Given the description of an element on the screen output the (x, y) to click on. 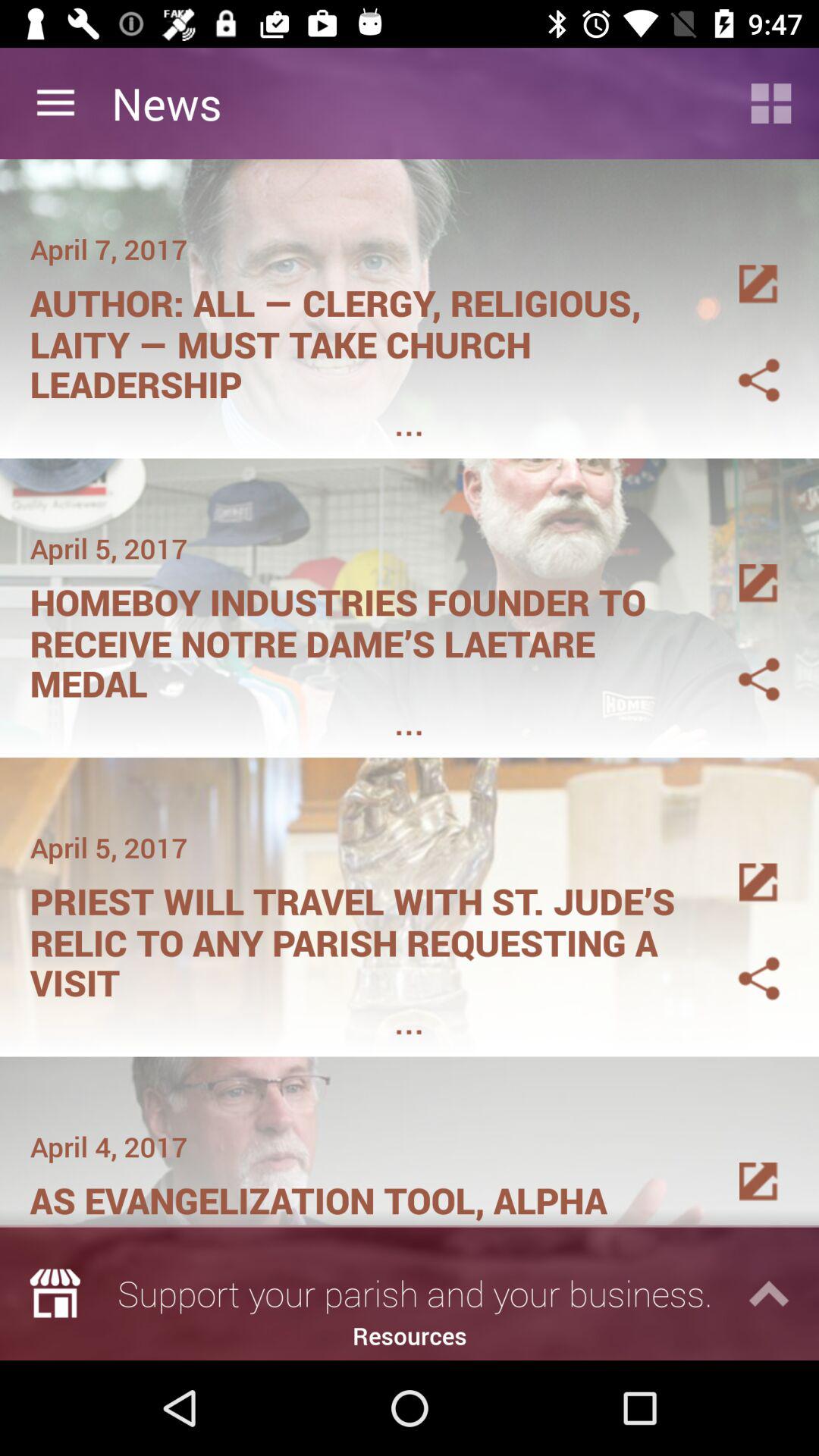
share article (740, 661)
